Given the description of an element on the screen output the (x, y) to click on. 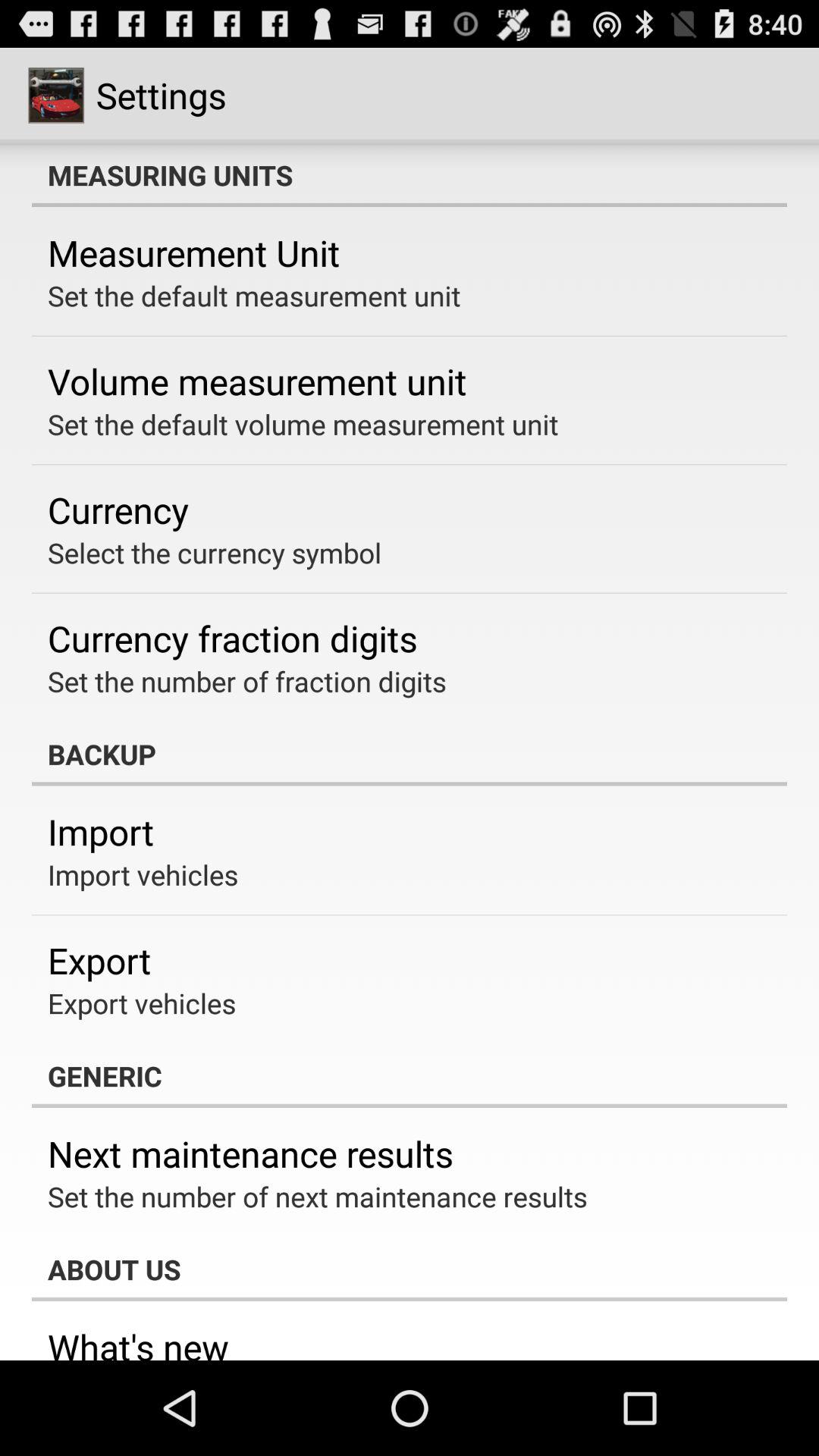
flip to export vehicles item (141, 1003)
